Given the description of an element on the screen output the (x, y) to click on. 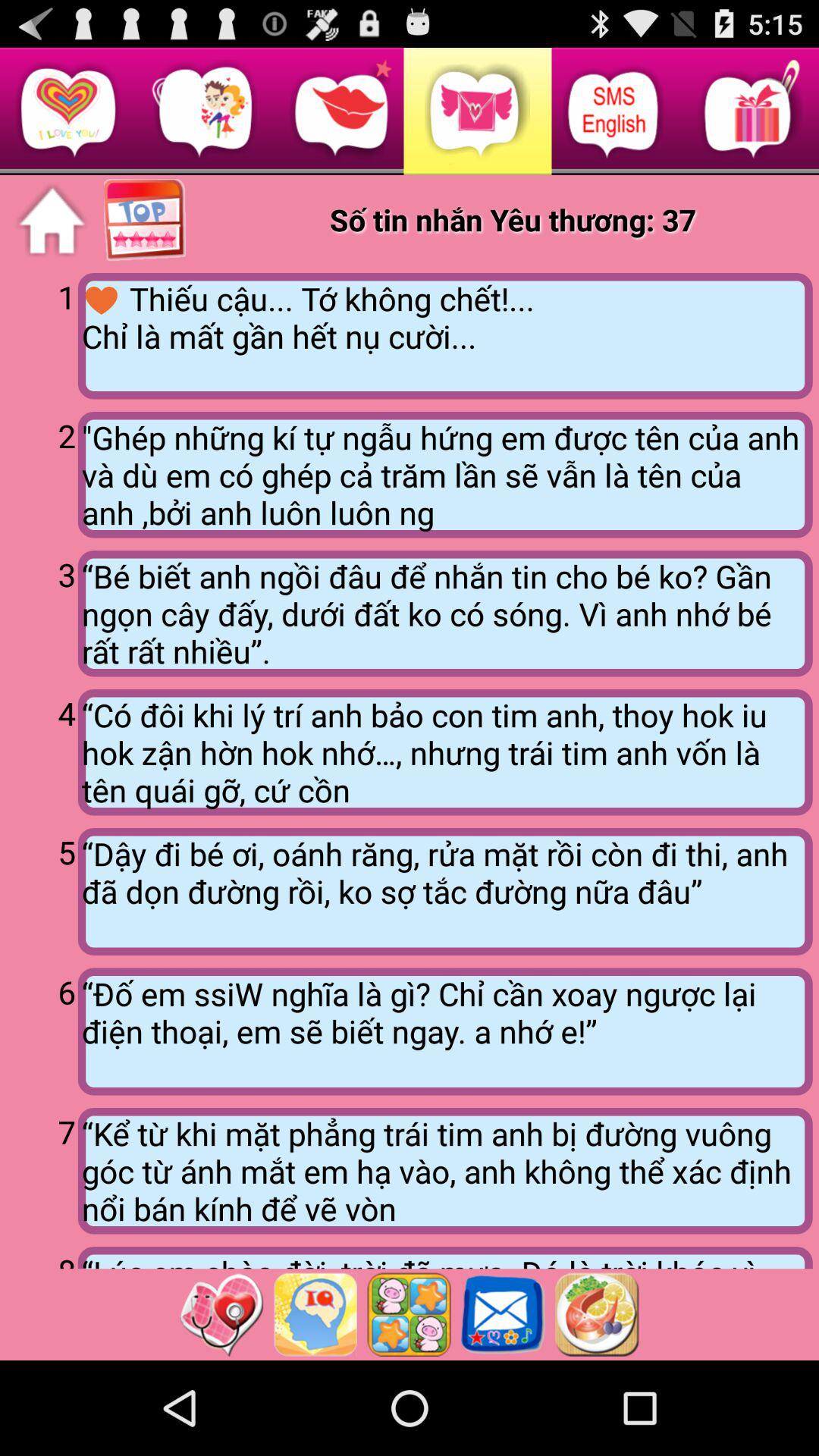
select the icon next to 3 (444, 613)
